Given the description of an element on the screen output the (x, y) to click on. 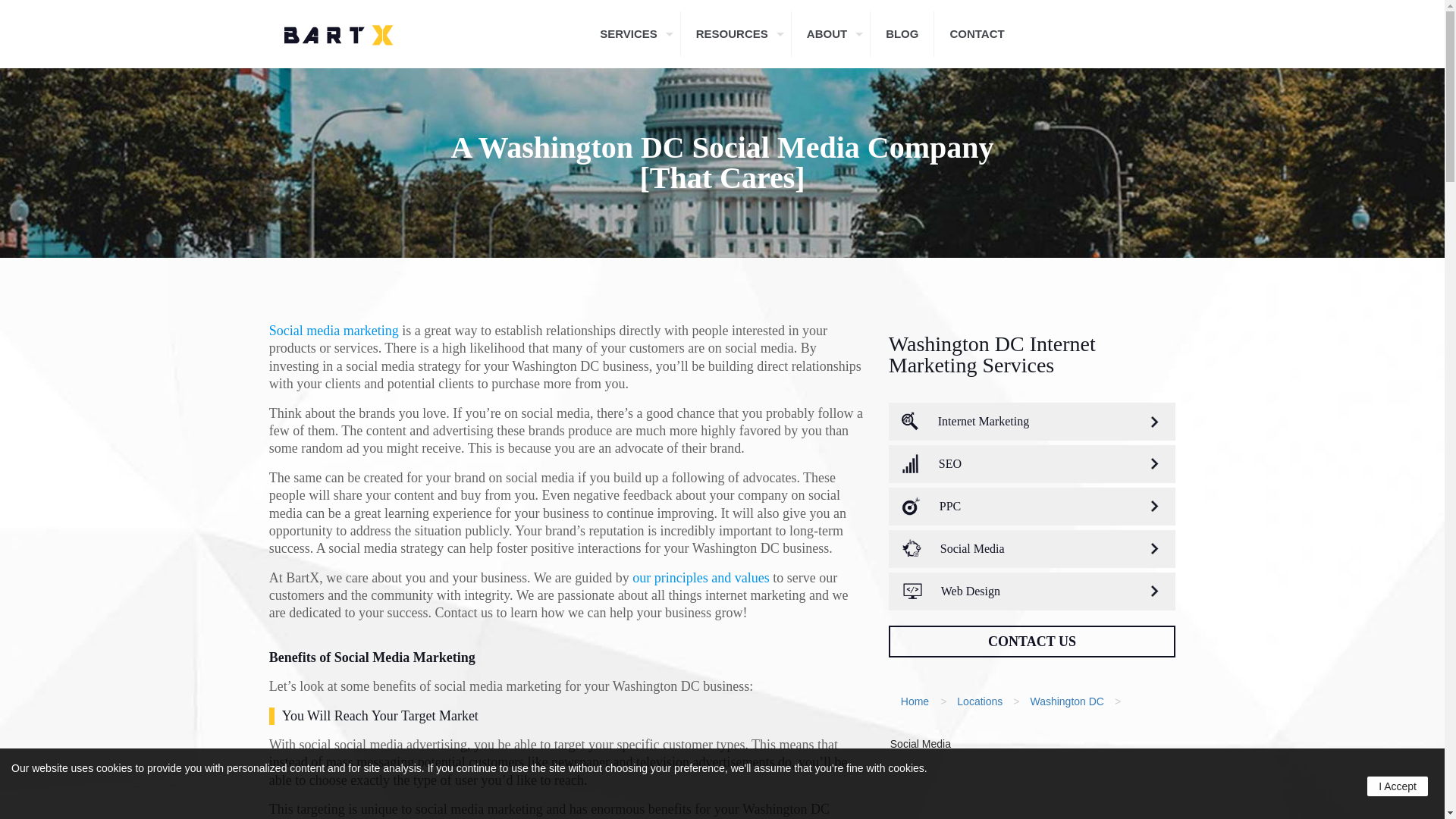
SERVICES (633, 33)
Locations (979, 701)
I Accept (1397, 786)
Social Media (919, 743)
CONTACT (976, 33)
Washington DC (1066, 701)
ABOUT (831, 33)
BLOG (902, 33)
RESOURCES (736, 33)
BartX (338, 33)
